Given the description of an element on the screen output the (x, y) to click on. 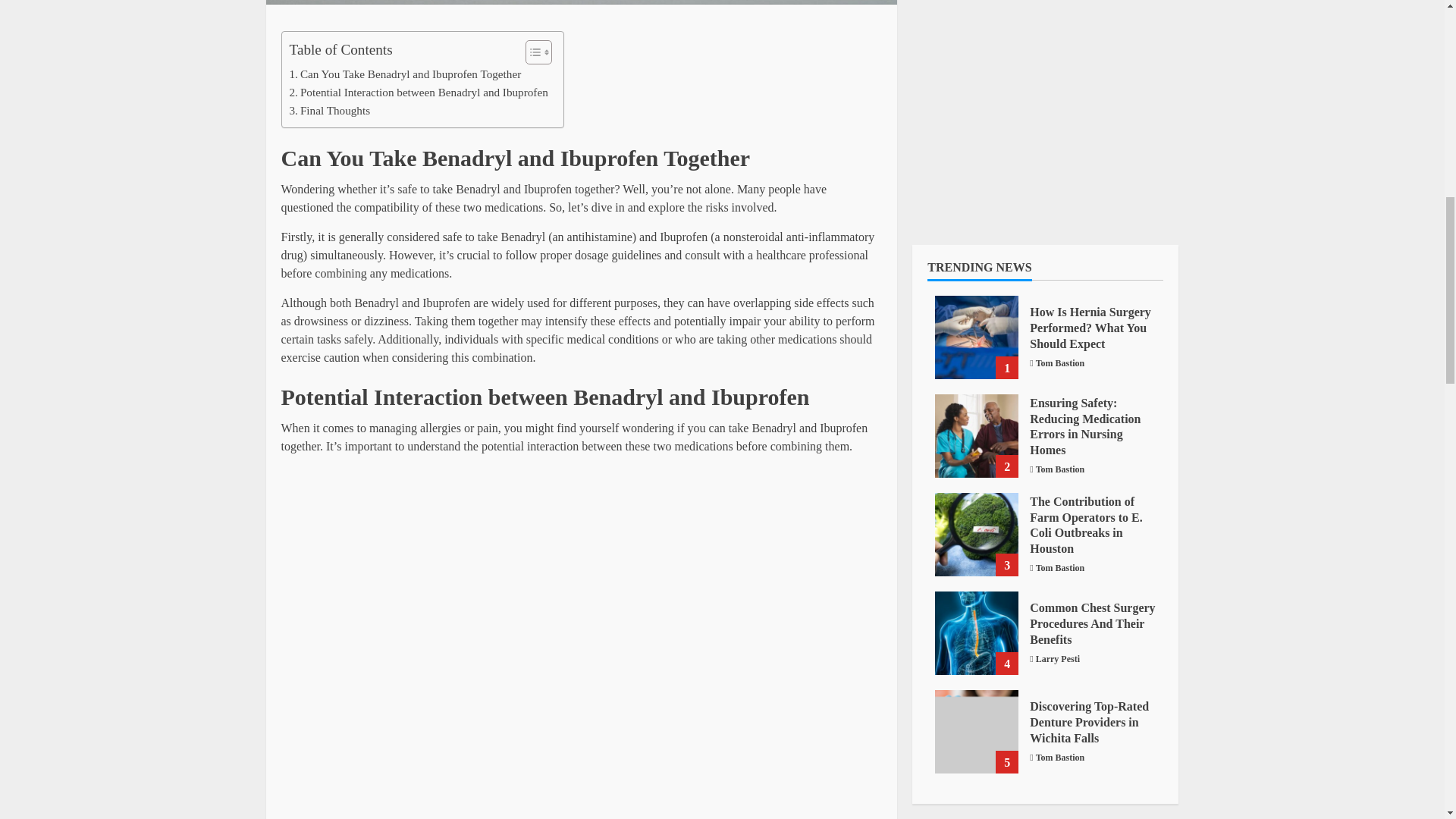
Final Thoughts (330, 110)
Potential Interaction between Benadryl and Ibuprofen (418, 92)
Can You Take Benadryl and Ibuprofen Together (405, 74)
Can You Take Benadryl and Ibuprofen Together (405, 74)
Final Thoughts (330, 110)
Potential Interaction between Benadryl and Ibuprofen (418, 92)
